Given the description of an element on the screen output the (x, y) to click on. 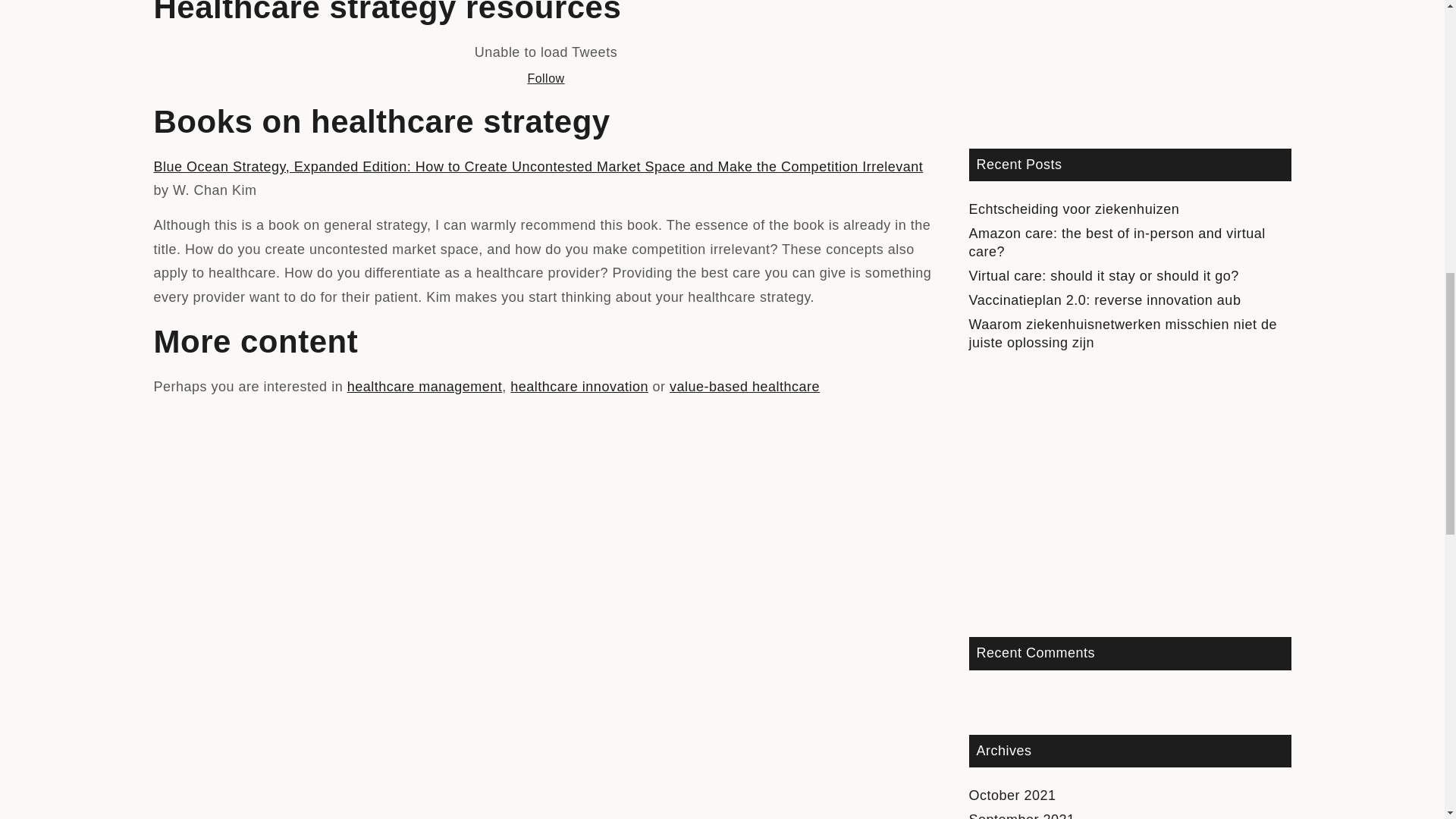
value-based healthcare (744, 386)
October 2021 (1013, 795)
Virtual care: should it stay or should it go? (1104, 275)
Follow (545, 78)
Echtscheiding voor ziekenhuizen (1074, 209)
Amazon care: the best of in-person and virtual care? (1117, 242)
healthcare innovation (579, 386)
healthcare management (424, 386)
Vaccinatieplan 2.0: reverse innovation aub (1105, 299)
